Given the description of an element on the screen output the (x, y) to click on. 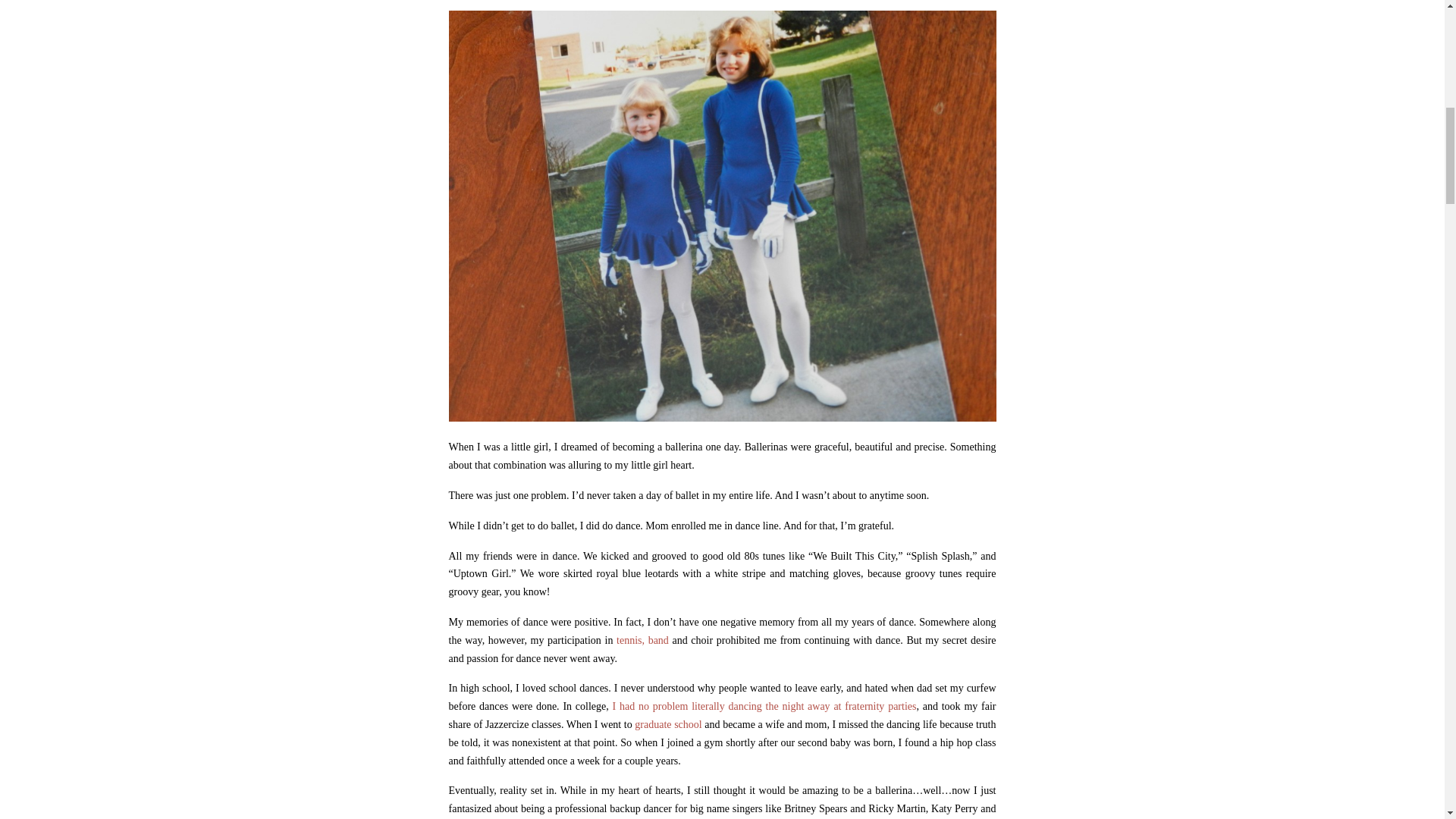
graduate school (667, 724)
band (657, 640)
tennis, (630, 640)
